Given the description of an element on the screen output the (x, y) to click on. 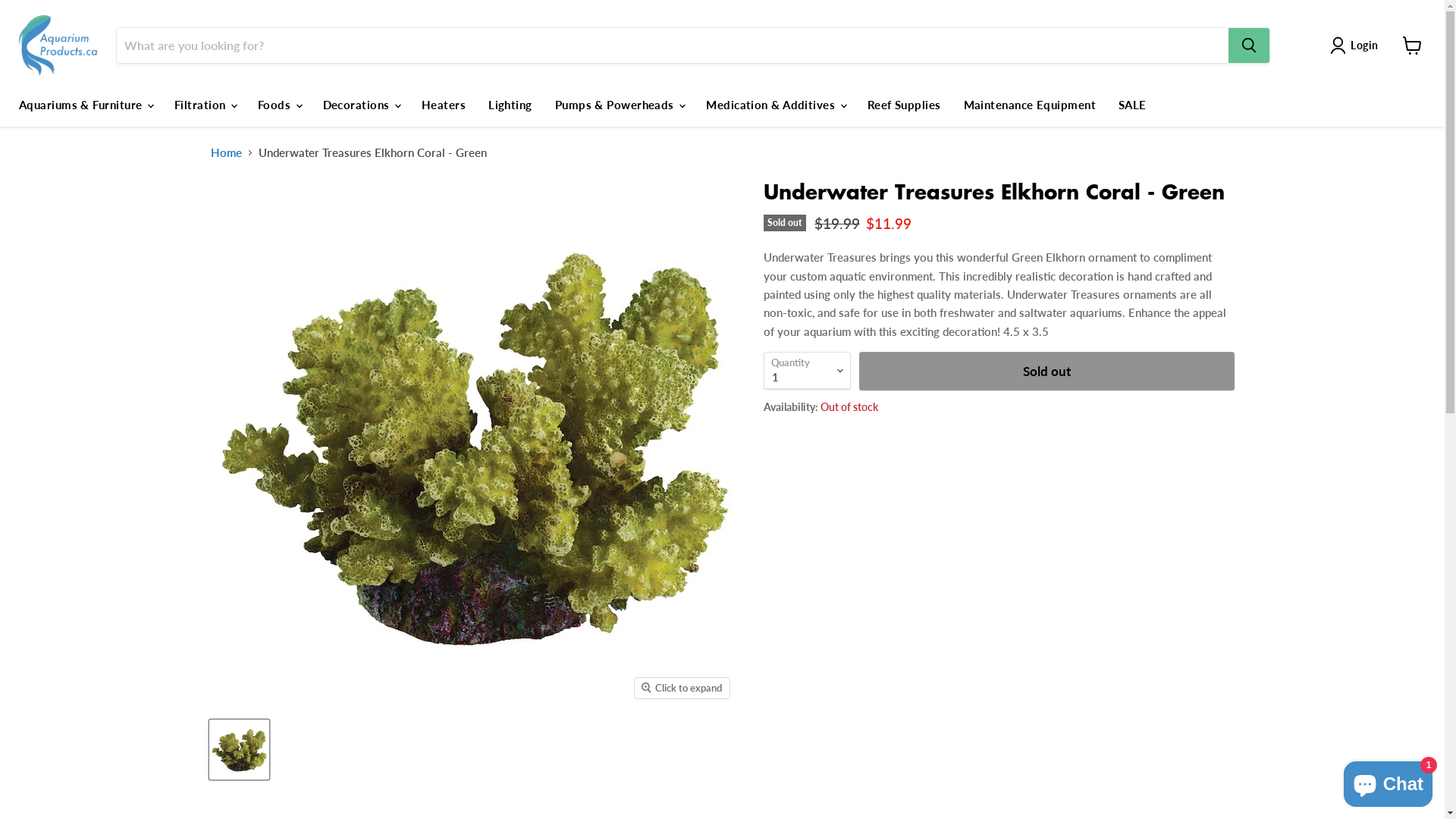
SALE Element type: text (1132, 104)
Lighting Element type: text (509, 104)
Click to expand Element type: text (680, 687)
View cart Element type: text (1412, 45)
Heaters Element type: text (443, 104)
Shopify online store chat Element type: hover (1388, 780)
Reef Supplies Element type: text (904, 104)
Maintenance Equipment Element type: text (1029, 104)
Home Element type: text (225, 152)
Login Element type: text (1356, 45)
Sold out Element type: text (1046, 370)
